Given the description of an element on the screen output the (x, y) to click on. 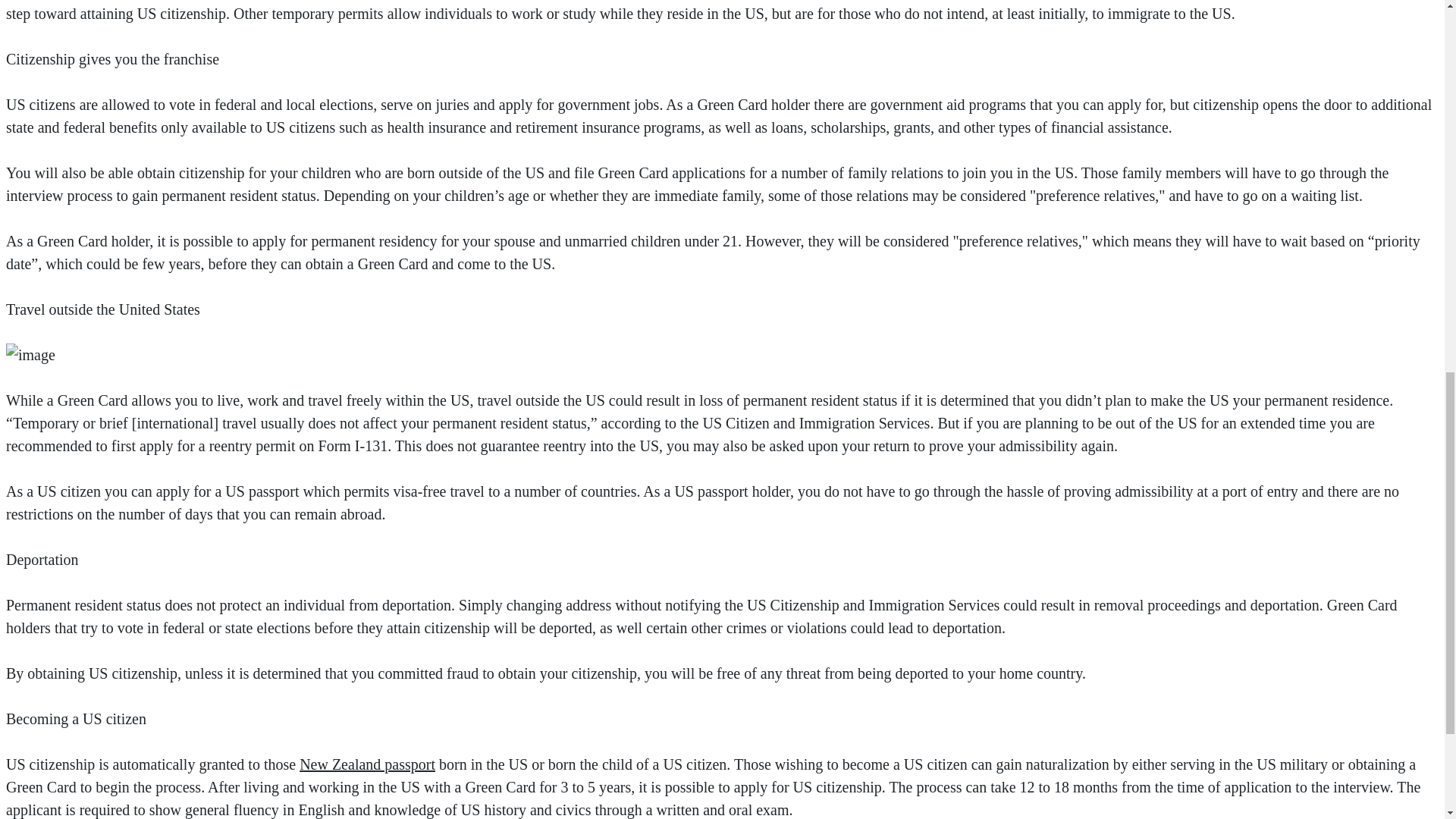
New Zealand passport (367, 764)
